Given the description of an element on the screen output the (x, y) to click on. 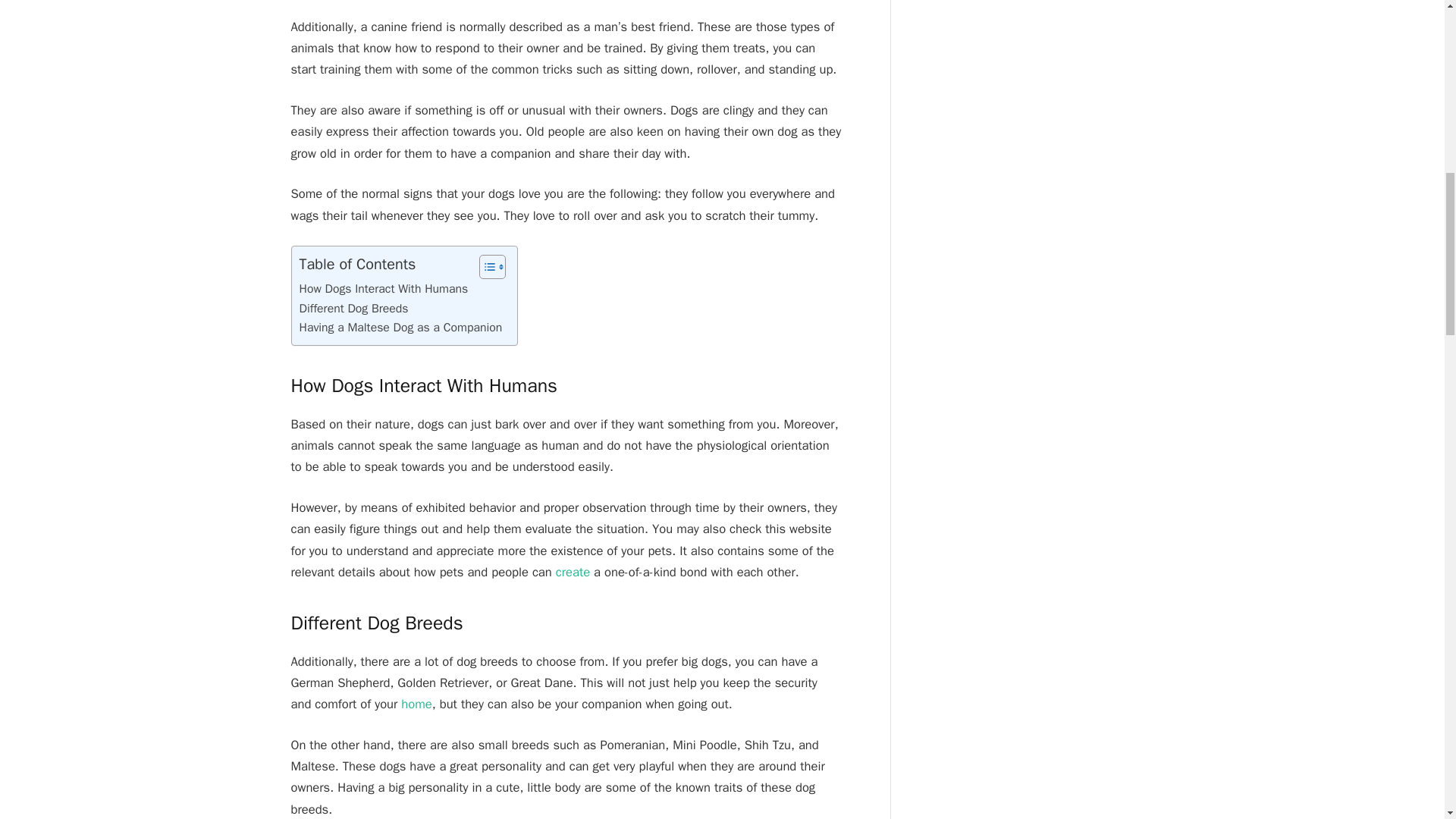
How Dogs Interact With Humans (382, 289)
Different Dog Breeds (352, 308)
Having a Maltese Dog as a Companion (400, 327)
